Given the description of an element on the screen output the (x, y) to click on. 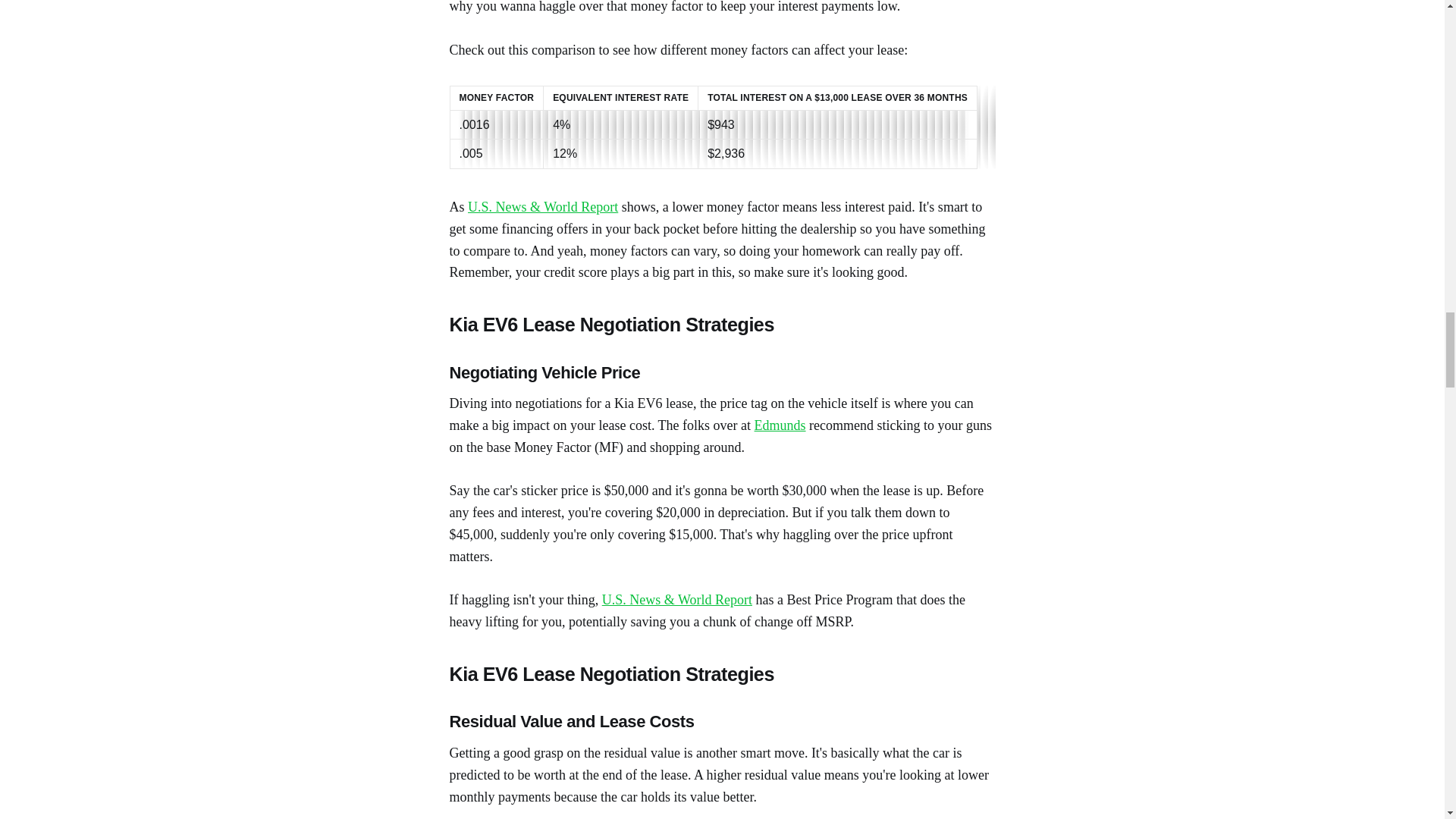
Edmunds (780, 425)
